Given the description of an element on the screen output the (x, y) to click on. 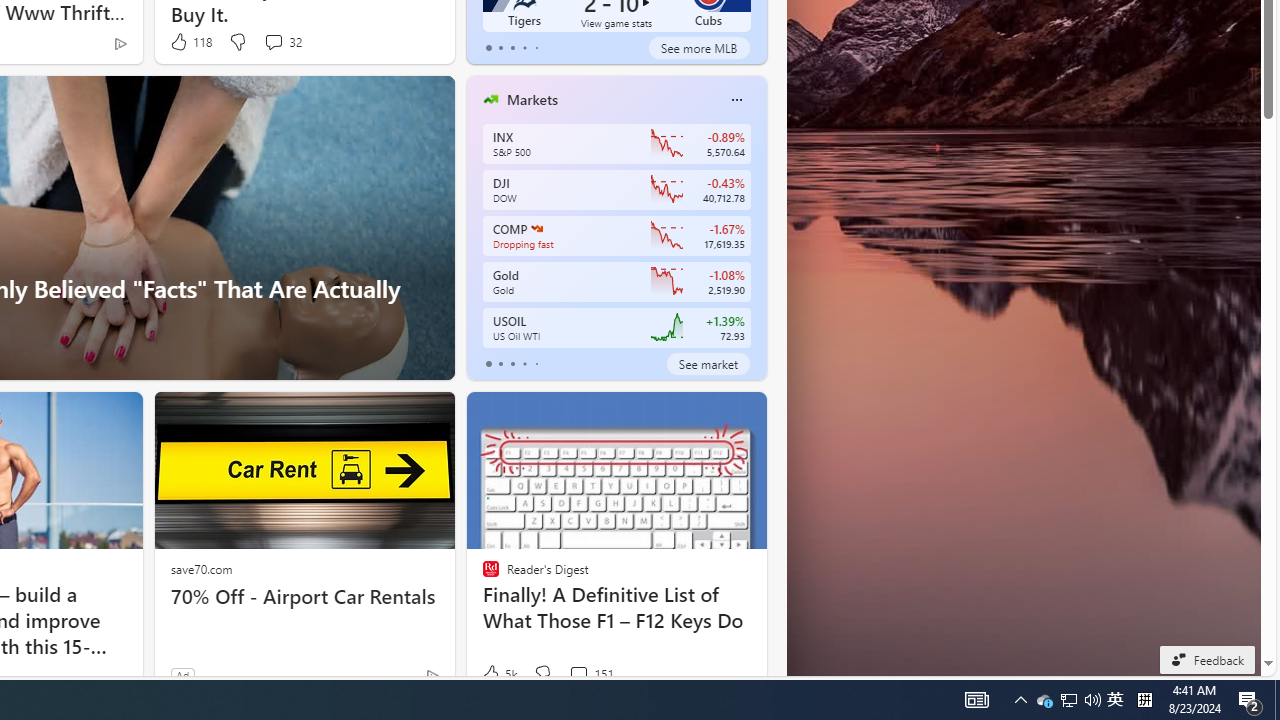
save70.com (201, 568)
See more MLB (698, 47)
Feedback (1206, 659)
View comments 32 Comment (281, 42)
Ad Choice (432, 675)
View comments 151 Comment (578, 673)
tab-1 (500, 363)
View comments 32 Comment (273, 41)
NASDAQ (535, 228)
Ad (182, 675)
Markets (531, 99)
118 Like (190, 42)
